Given the description of an element on the screen output the (x, y) to click on. 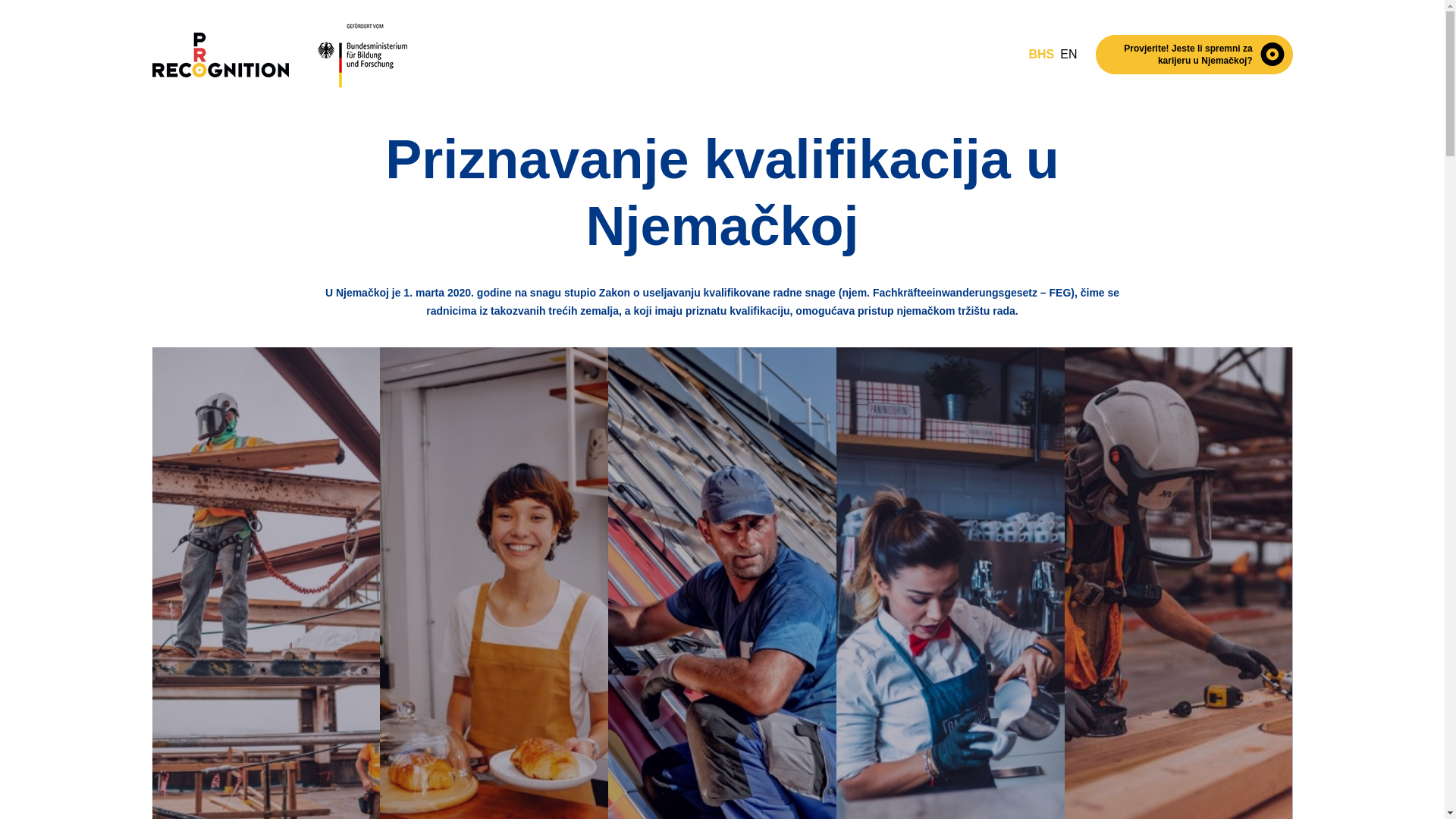
EN Element type: text (1068, 54)
BHS Element type: text (1041, 54)
